Given the description of an element on the screen output the (x, y) to click on. 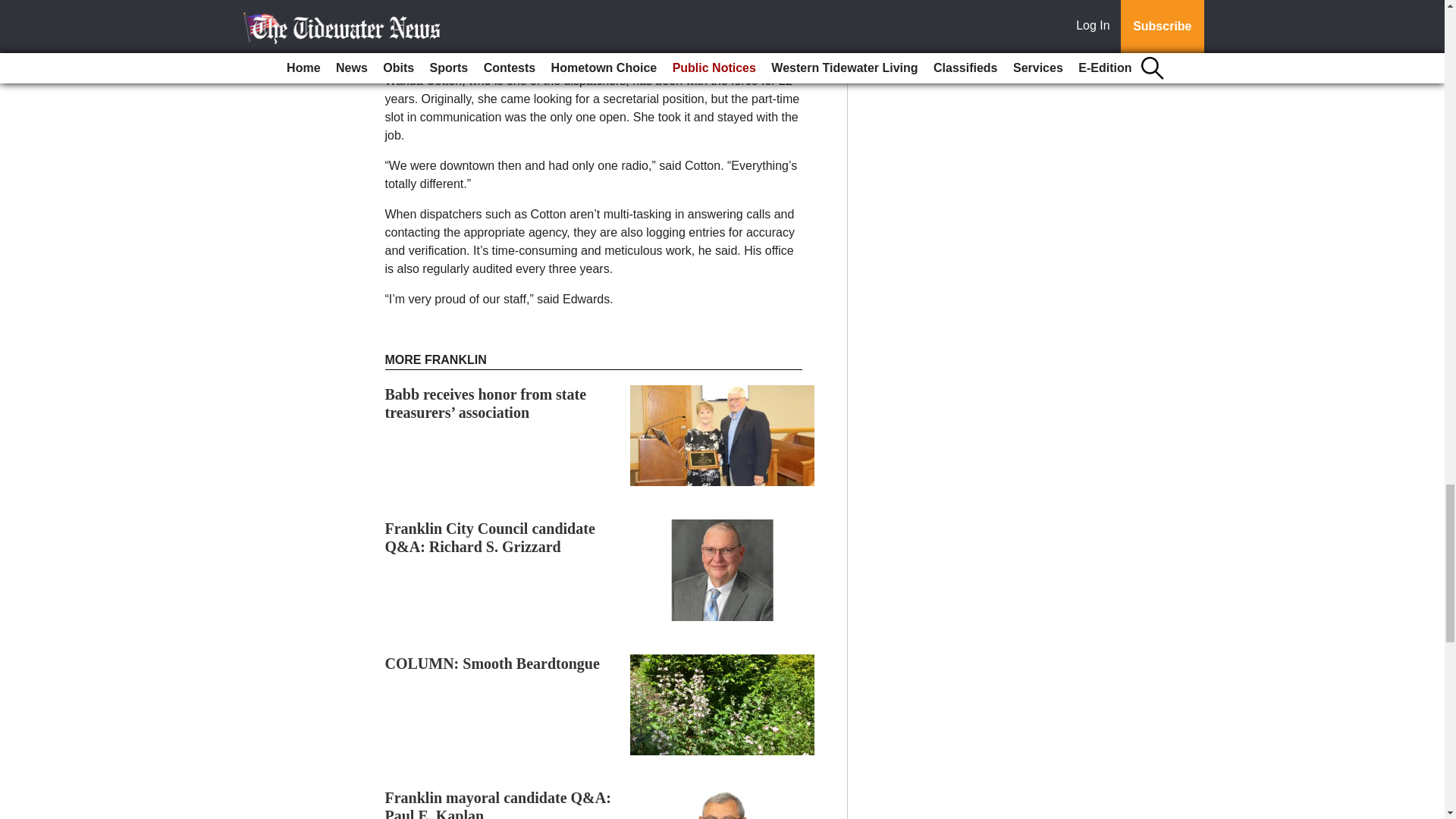
COLUMN: Smooth Beardtongue (492, 663)
